Given the description of an element on the screen output the (x, y) to click on. 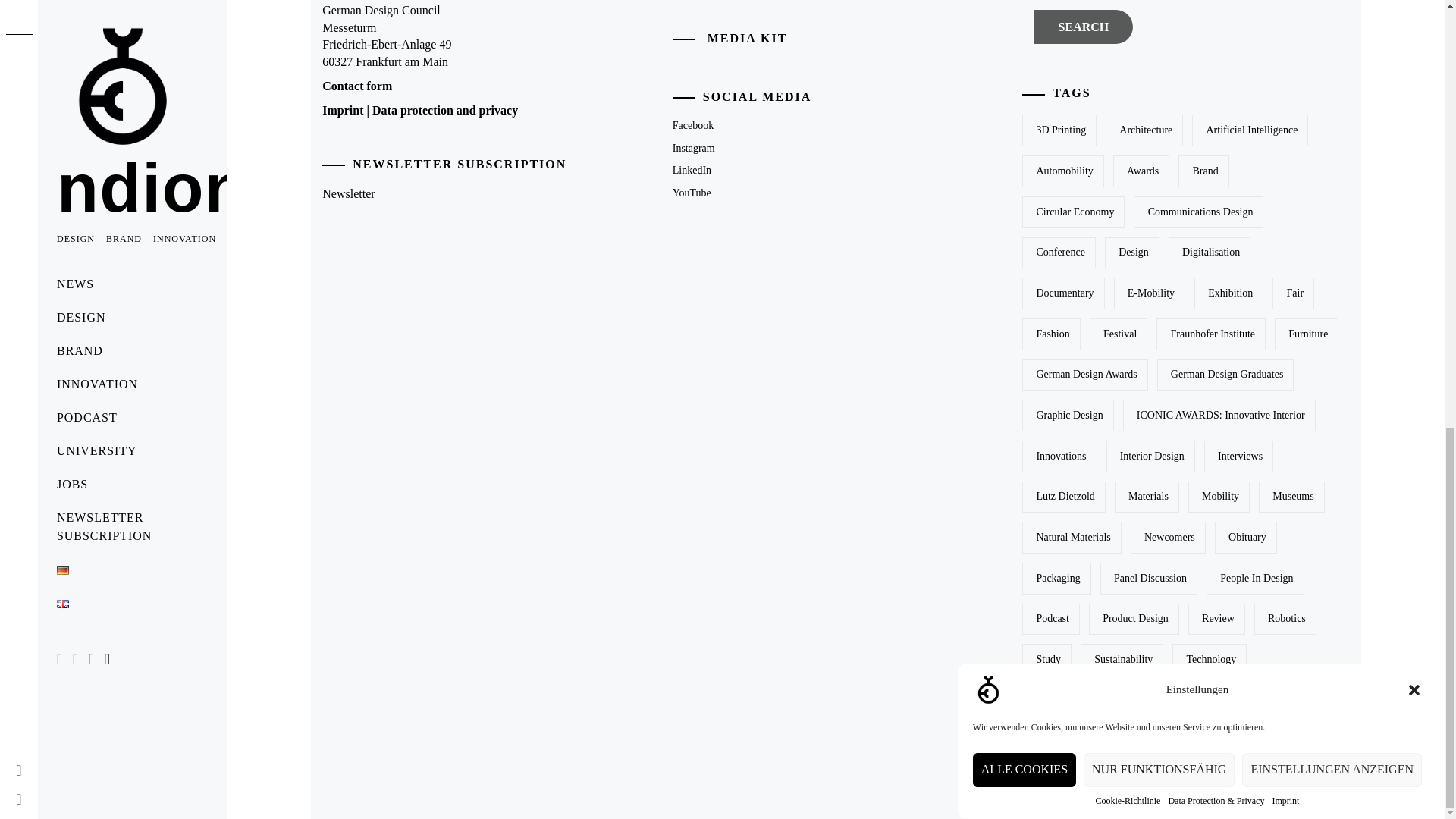
Contact form (356, 85)
ALLE COOKIES (1023, 126)
EINSTELLUNGEN ANZEIGEN (1331, 82)
Data protection and privacy (445, 110)
Search (1082, 26)
Imprint (341, 110)
Imprint (1284, 20)
Cookie-Richtlinie (1127, 51)
Search (1082, 26)
